Given the description of an element on the screen output the (x, y) to click on. 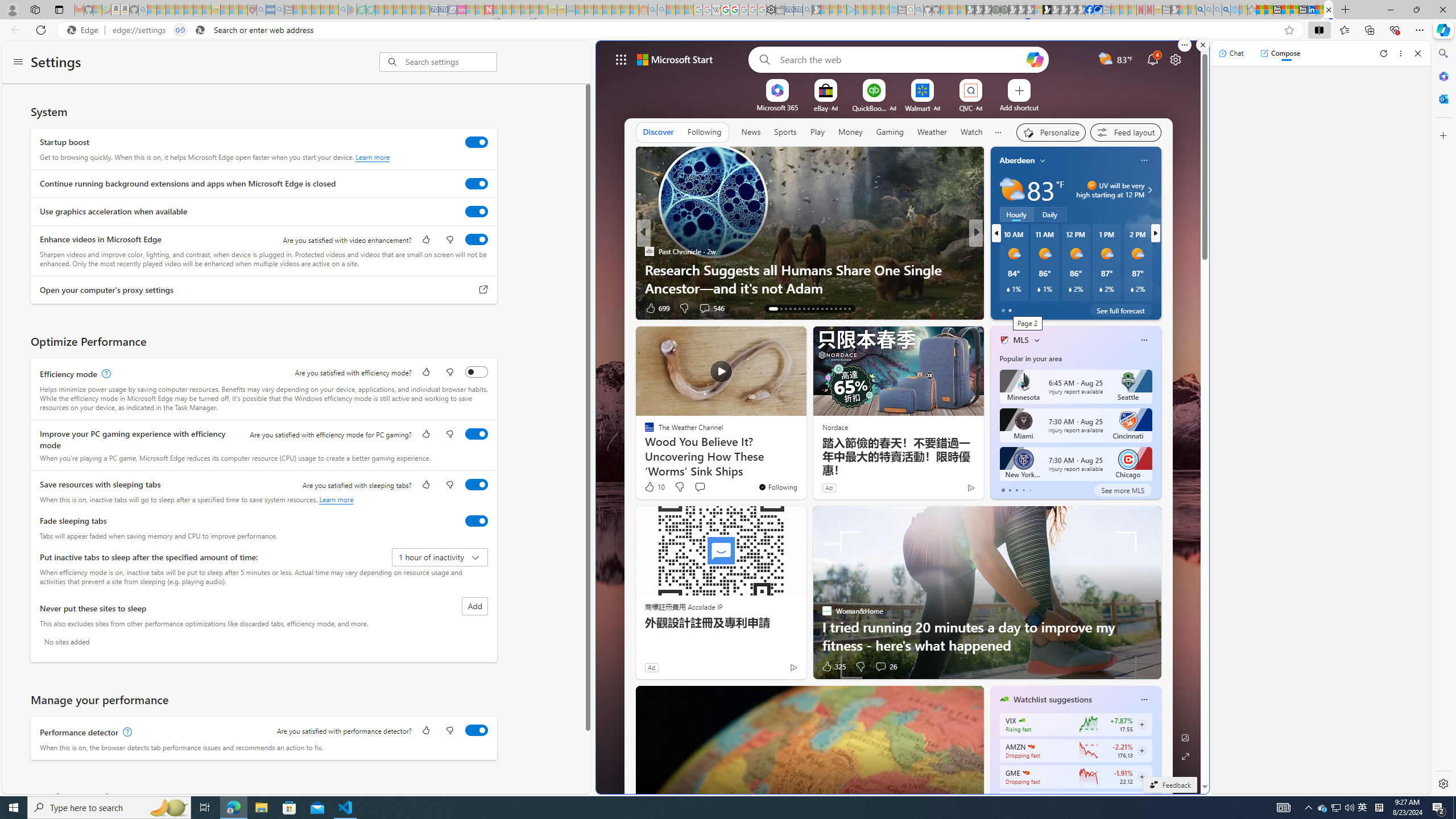
What If (999, 269)
AutomationID: tab-28 (845, 308)
AutomationID: tab-22 (817, 308)
GAMESTOP CORP. (1025, 772)
Class: weather-current-precipitation-glyph (1131, 289)
Money (850, 132)
Expand background (1185, 756)
Class: weather-arrow-glyph (1149, 189)
google - Search - Sleeping (342, 9)
Expert Portfolios - Sleeping (606, 9)
